Given the description of an element on the screen output the (x, y) to click on. 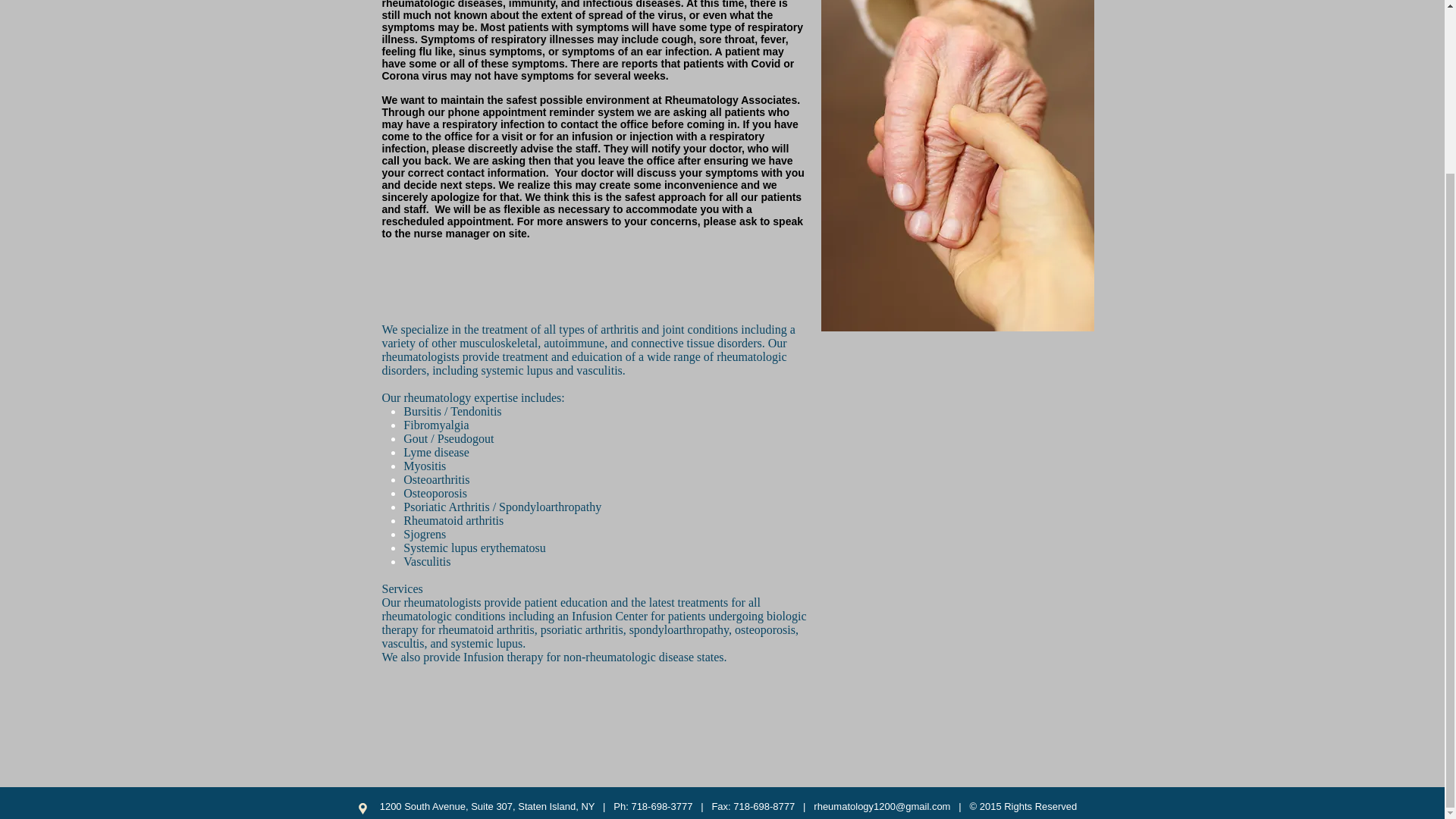
Sjogrens (424, 533)
Myositis (424, 465)
Vasculitis (426, 561)
Rheumatoid arthritis (453, 520)
Lyme disease (435, 451)
Osteoporosis (435, 492)
Fibromyalgia (435, 424)
Systemic lupus erythematosu (474, 547)
Osteoarthritis (435, 479)
